Given the description of an element on the screen output the (x, y) to click on. 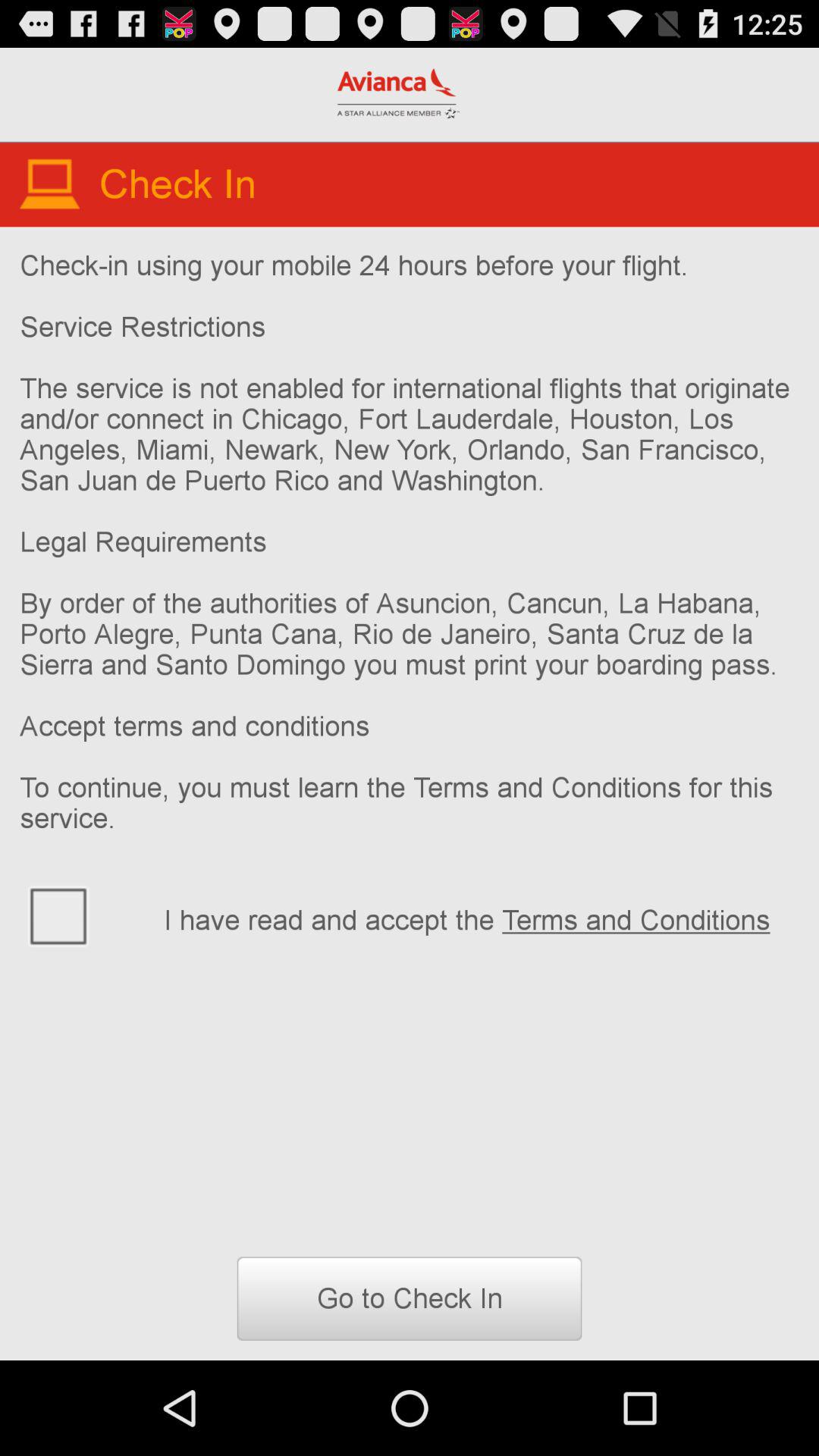
check box affirming you have read the and accept the terms and conditions (81, 914)
